Given the description of an element on the screen output the (x, y) to click on. 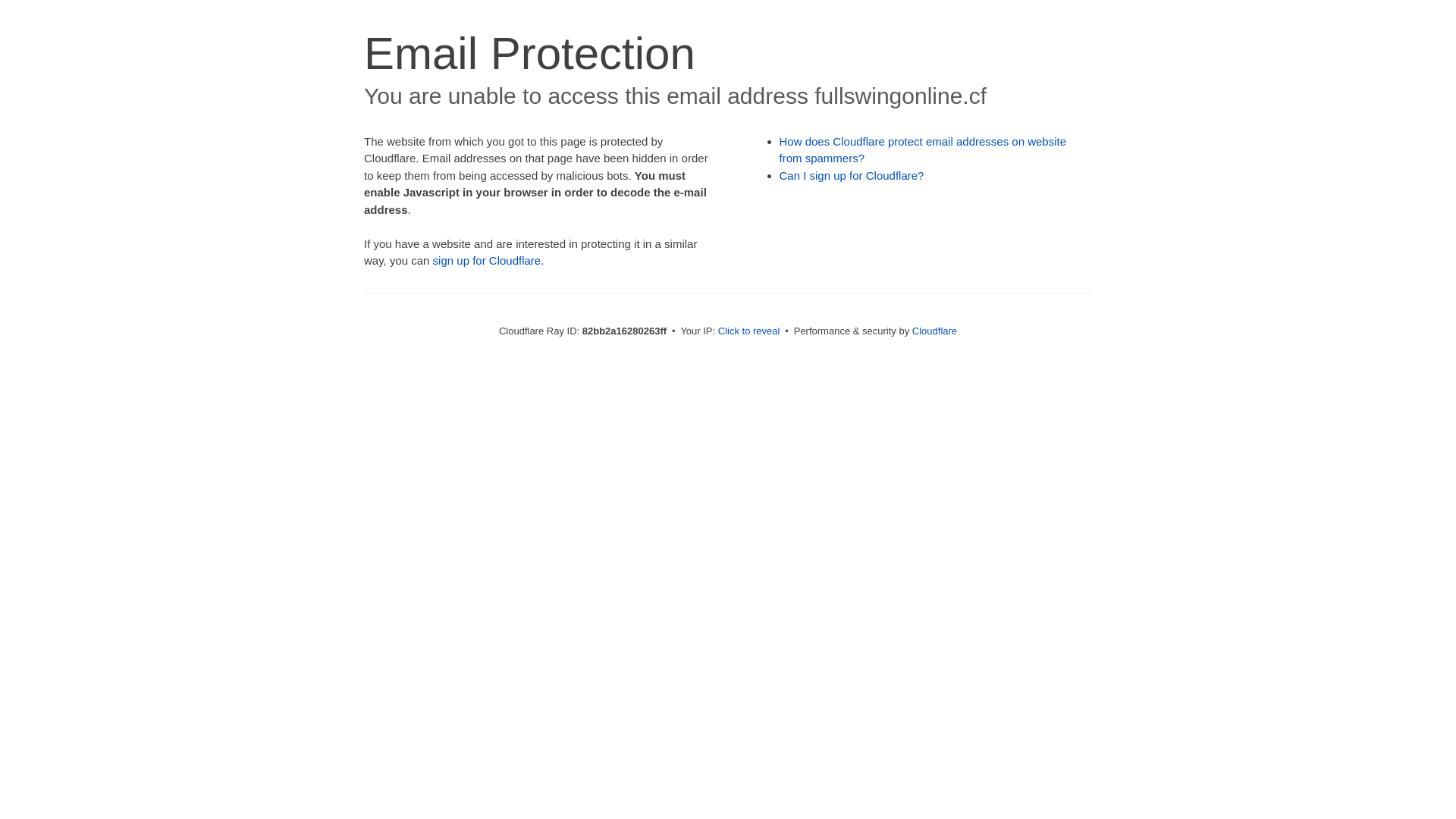
sign up for Cloudflare Element type: text (487, 260)
Cloudflare Element type: text (934, 330)
Click to reveal Element type: text (749, 330)
Can I sign up for Cloudflare? Element type: text (851, 175)
